Given the description of an element on the screen output the (x, y) to click on. 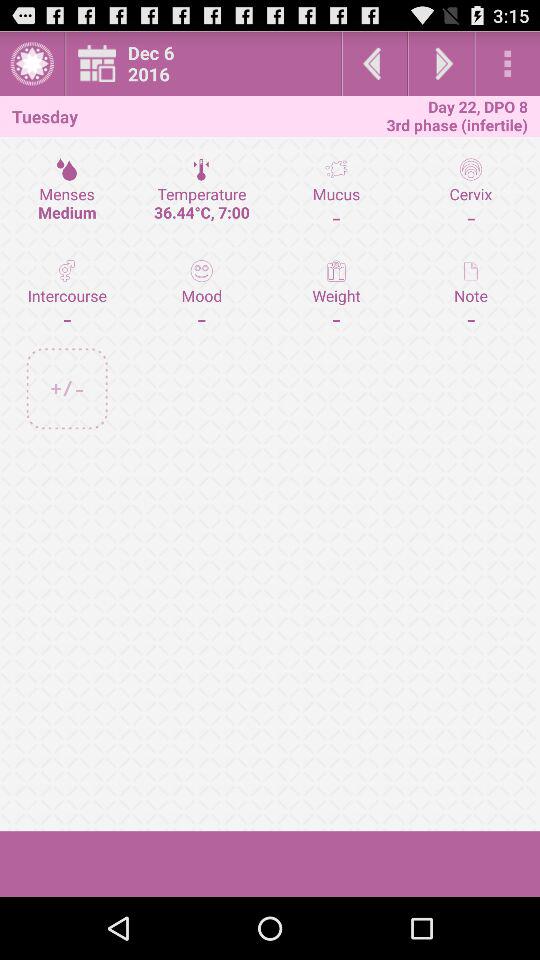
press the item to the right of the mucus
_ item (470, 294)
